Given the description of an element on the screen output the (x, y) to click on. 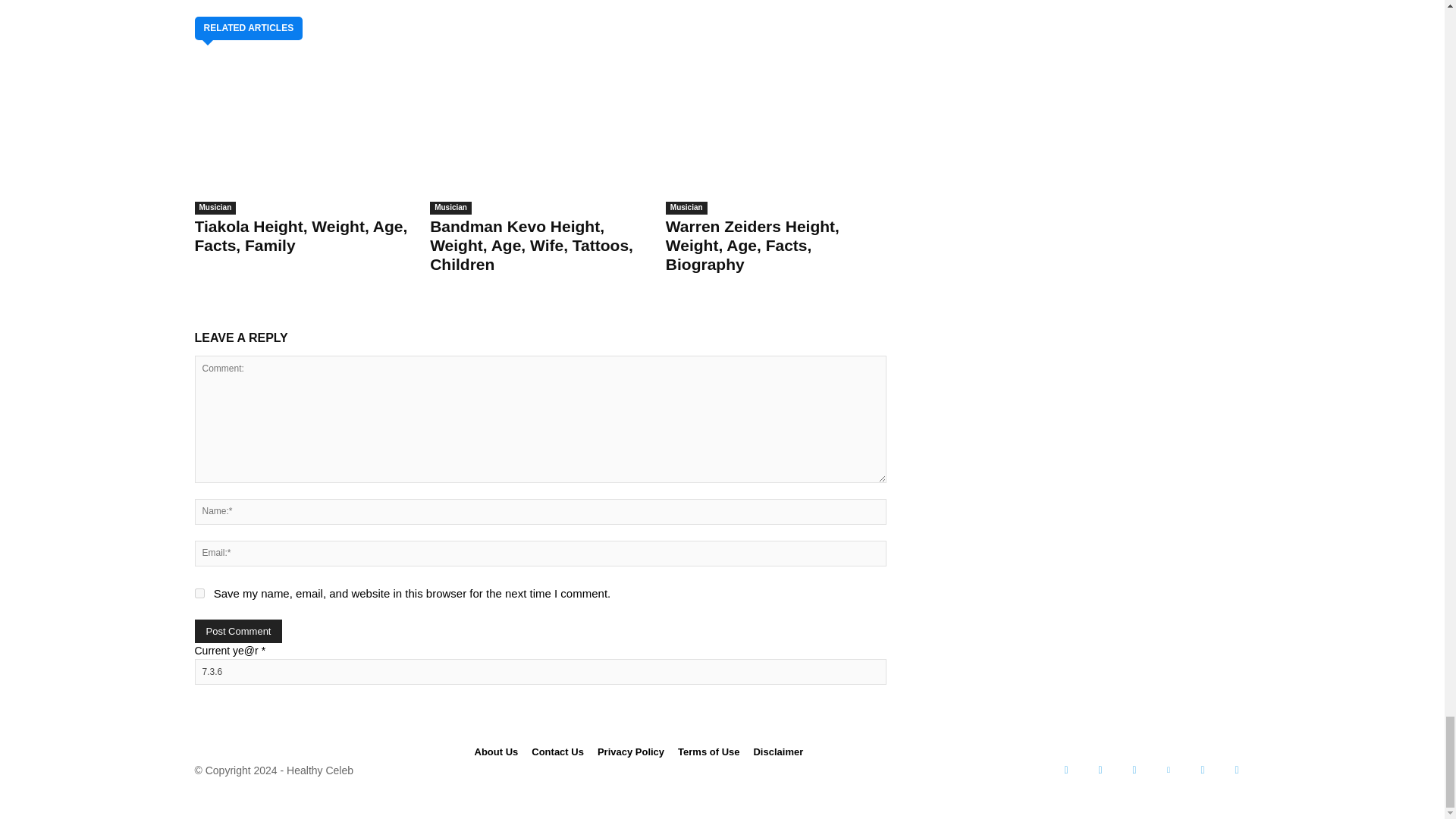
Post Comment (237, 630)
7.3.6 (539, 671)
yes (198, 593)
